Given the description of an element on the screen output the (x, y) to click on. 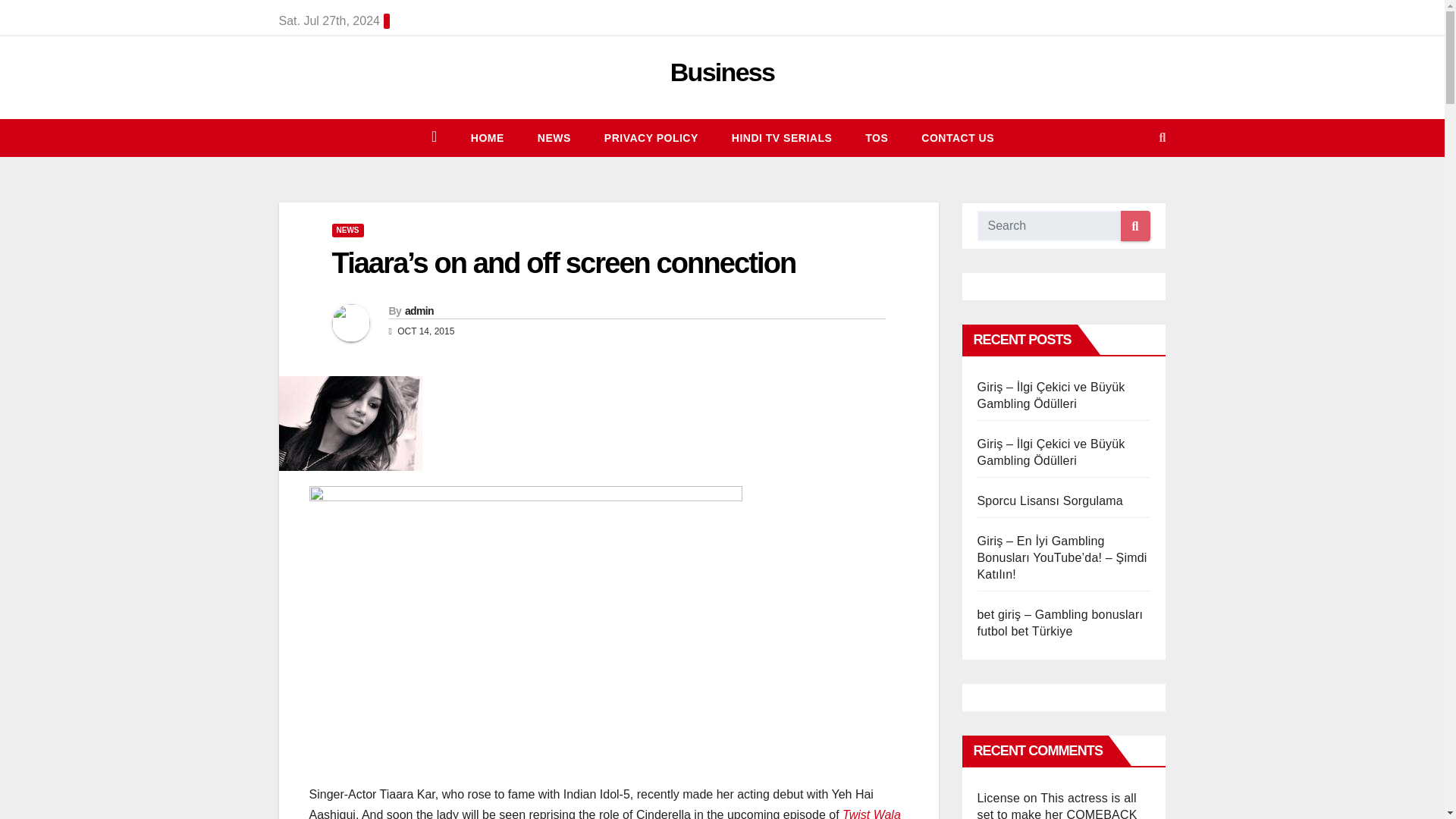
PRIVACY POLICY (651, 137)
TOS (876, 137)
admin (418, 310)
Hindi Tv Serials (781, 137)
NEWS (347, 230)
CONTACT US (957, 137)
NEWS (554, 137)
HINDI TV SERIALS (781, 137)
HOME (487, 137)
Home (487, 137)
Contact Us (957, 137)
News (554, 137)
Privacy Policy (651, 137)
Twist Wala Love (604, 813)
Business (721, 71)
